Given the description of an element on the screen output the (x, y) to click on. 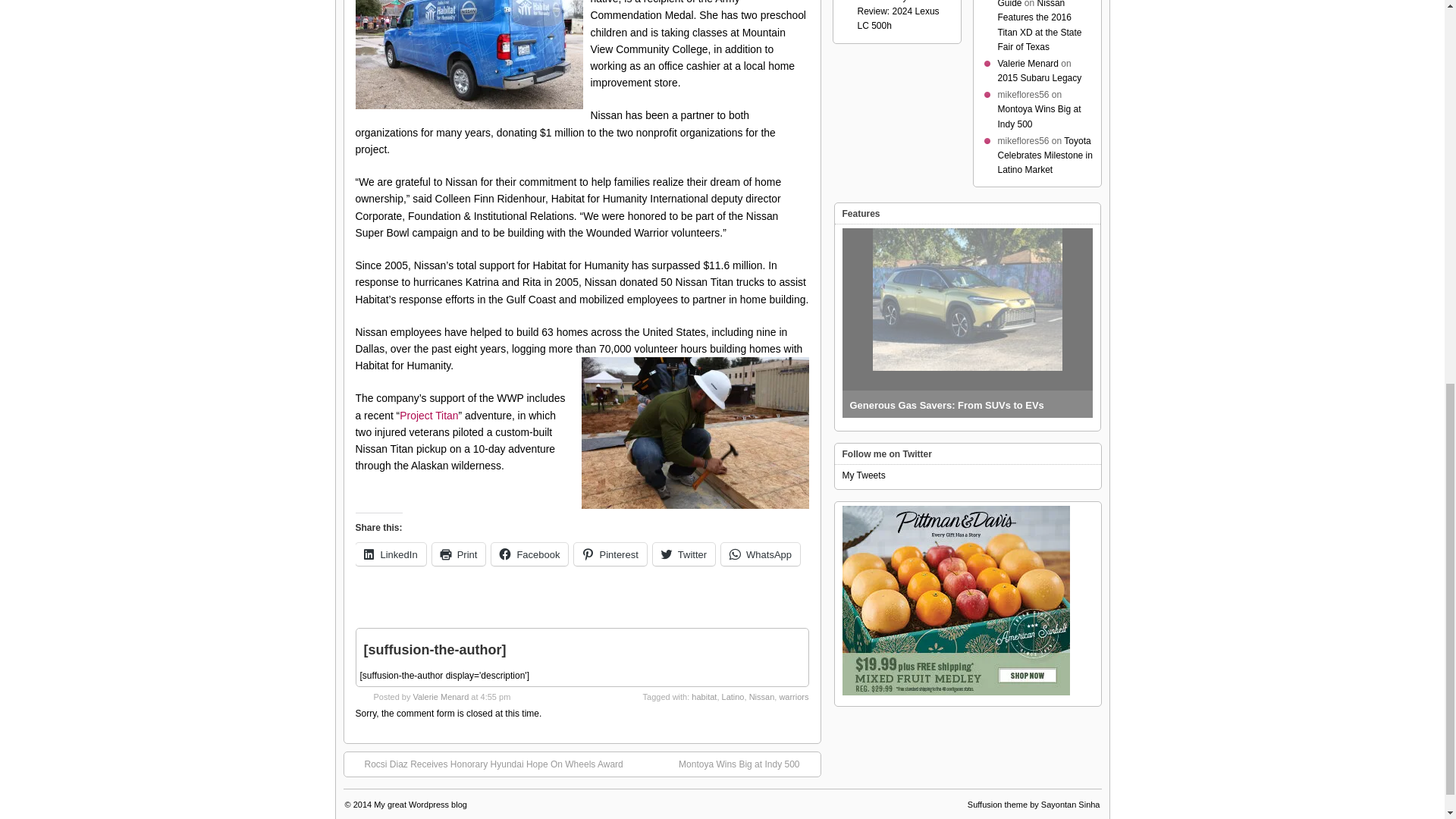
WhatsApp (759, 553)
Click to share on WhatsApp (759, 553)
habitat (703, 696)
Print (459, 553)
Montoya Wins Big at Indy 500 (1039, 116)
Click to share on LinkedIn (390, 553)
  Montoya Wins Big at Indy 500 (745, 764)
Click to share on Pinterest (609, 553)
Click to print (459, 553)
  Rocsi Diaz Receives Honorary Hyundai Hope On Wheels Award (486, 764)
Click to share on Facebook (529, 553)
Click to share on Twitter (683, 553)
Valerie Menard (440, 696)
2015 Subaru Legacy (1039, 77)
Facebook (529, 553)
